Given the description of an element on the screen output the (x, y) to click on. 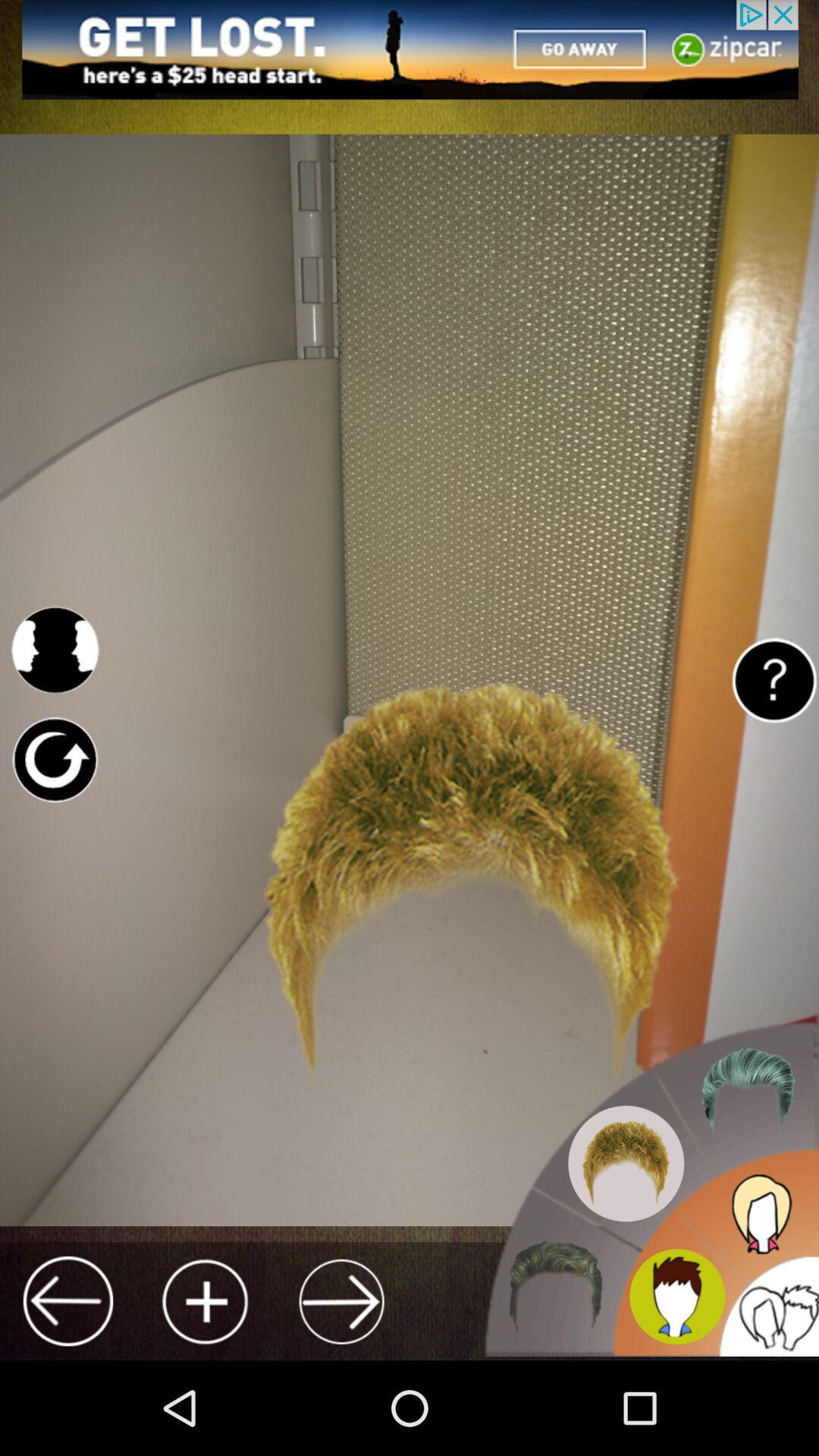
next the option (341, 1301)
